Given the description of an element on the screen output the (x, y) to click on. 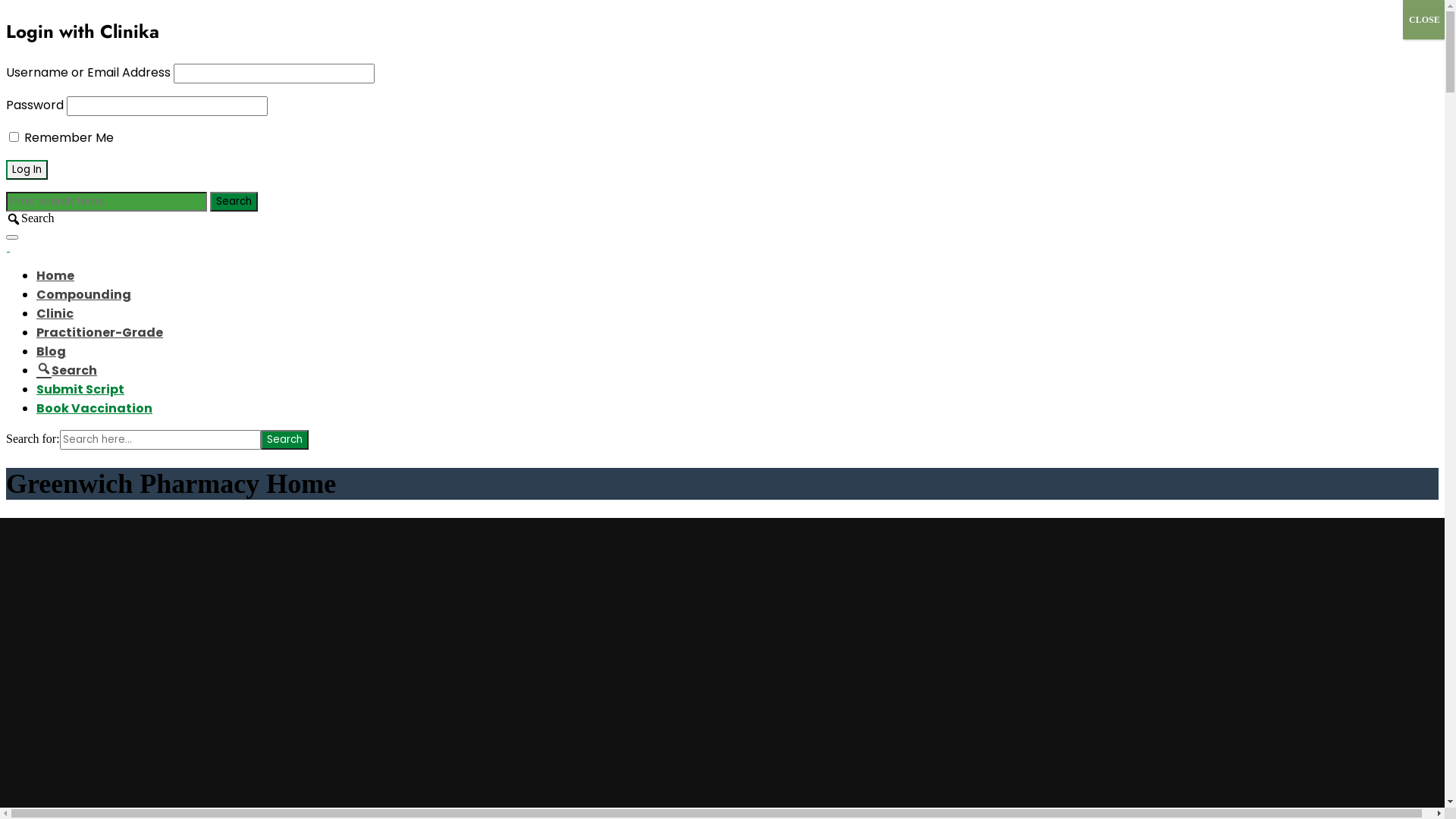
Home Element type: text (55, 275)
Compounding Element type: text (83, 294)
Search Element type: text (233, 201)
Submit Script Element type: text (80, 389)
Blog Element type: text (50, 351)
Book Vaccination Element type: text (94, 408)
Clinic Element type: text (54, 313)
Practitioner-Grade Element type: text (99, 332)
CLOSE Element type: text (1423, 19)
Search Element type: text (66, 370)
Log In Element type: text (26, 169)
Search Element type: text (284, 439)
